Given the description of an element on the screen output the (x, y) to click on. 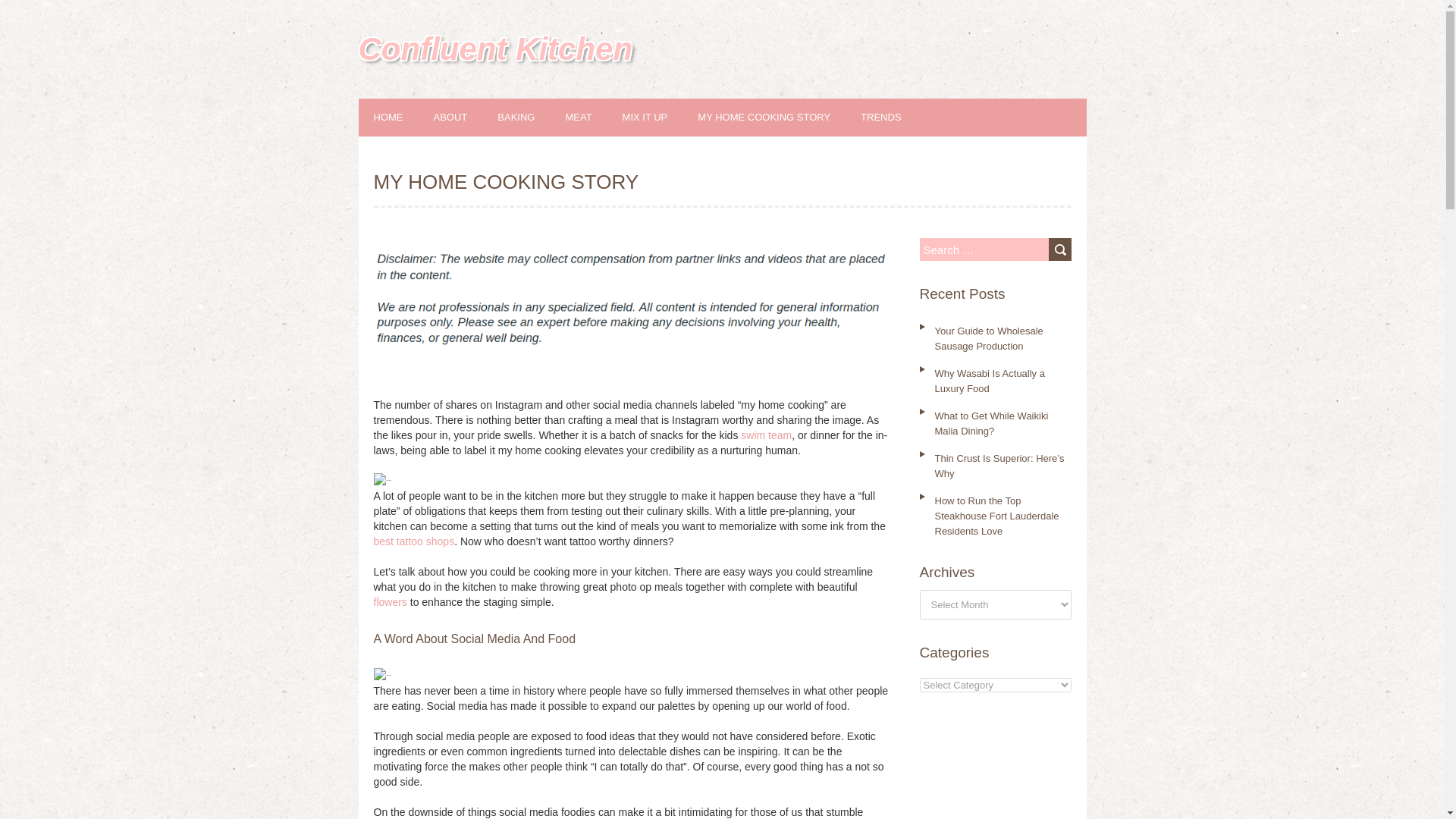
Your Guide to Wholesale Sausage Production (988, 338)
flowers (389, 602)
MY HOME COOKING STORY (779, 117)
HOME (403, 117)
Confluent Kitchen (494, 48)
Why Wasabi Is Actually a Luxury Food (988, 380)
MEAT (593, 117)
What to Get While Waikiki Malia Dining? (991, 423)
MIX IT UP (660, 117)
How to Run the Top Steakhouse Fort Lauderdale Residents Love (996, 516)
